Given the description of an element on the screen output the (x, y) to click on. 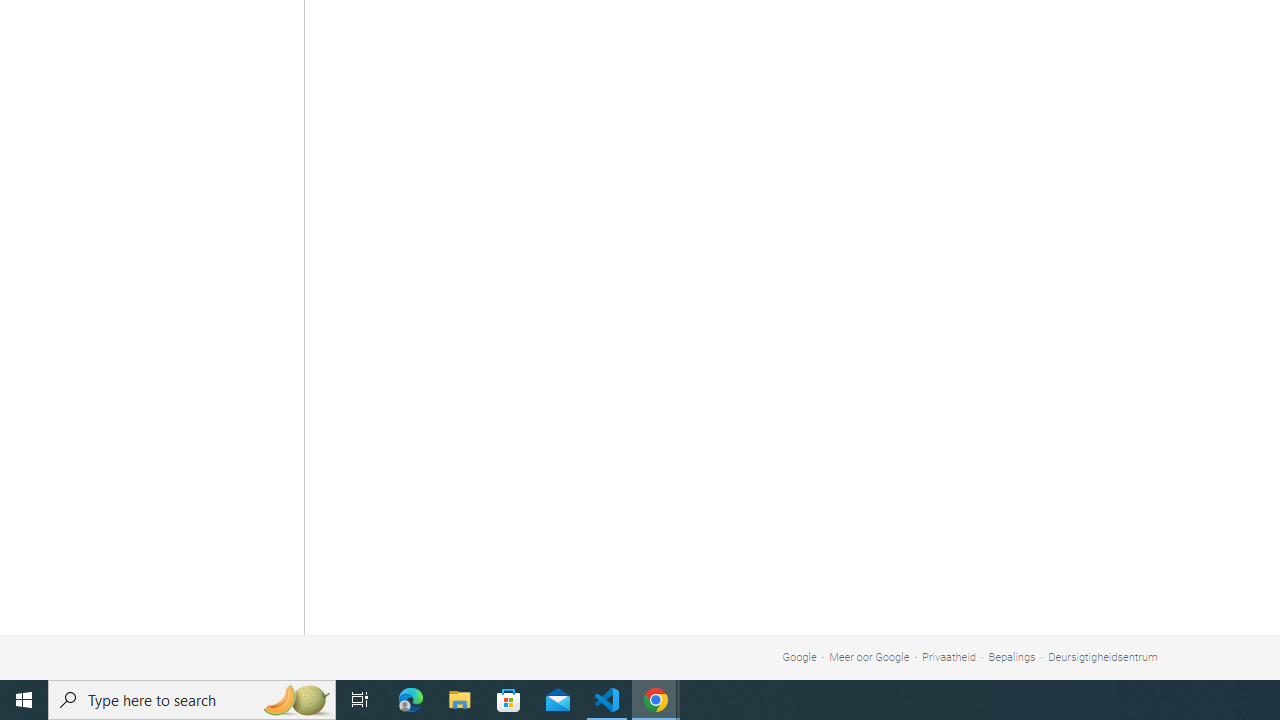
Meer oor Google (869, 656)
Deursigtigheidsentrum (1103, 656)
Privaatheid (948, 656)
Google (799, 656)
Bepalings (1011, 656)
